Given the description of an element on the screen output the (x, y) to click on. 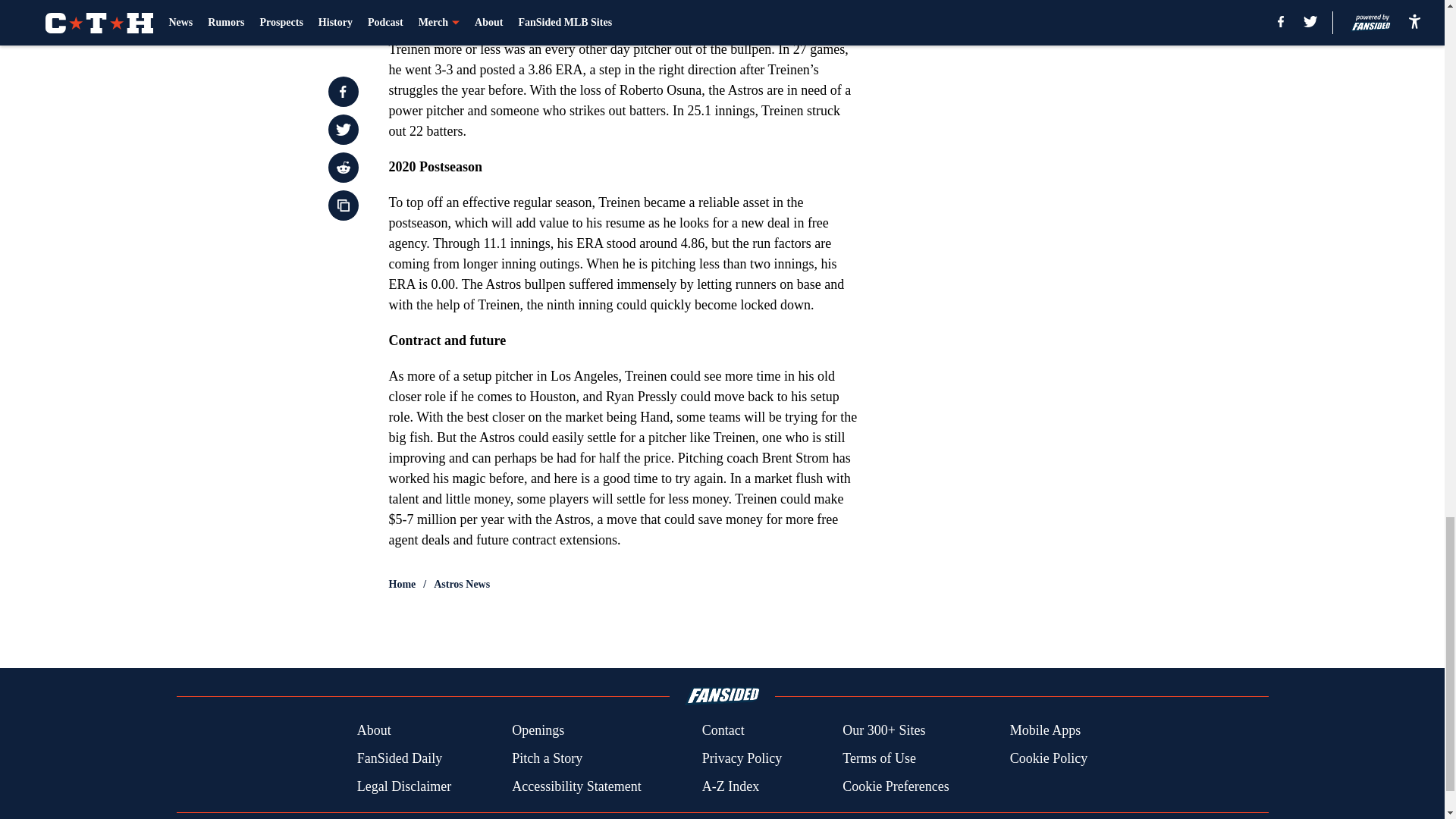
Home (401, 584)
About (373, 730)
FanSided Daily (399, 758)
Privacy Policy (742, 758)
Cookie Policy (1048, 758)
Terms of Use (879, 758)
Mobile Apps (1045, 730)
Contact (722, 730)
Openings (538, 730)
Pitch a Story (547, 758)
